Given the description of an element on the screen output the (x, y) to click on. 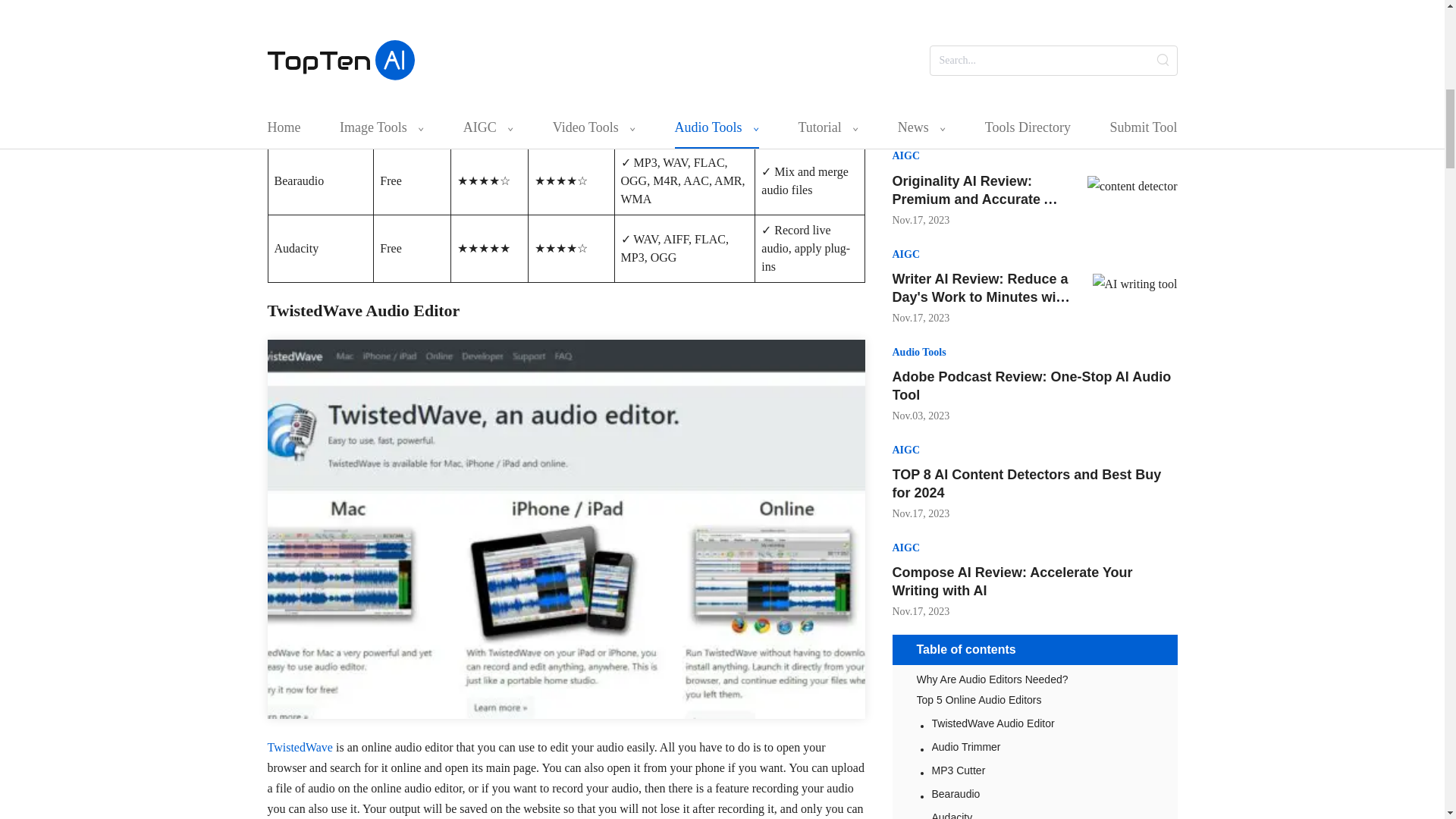
Top 5 Online Audio Editors (1034, 699)
Why Are Audio Editors Needed? (1034, 679)
TwistedWave (298, 747)
